Given the description of an element on the screen output the (x, y) to click on. 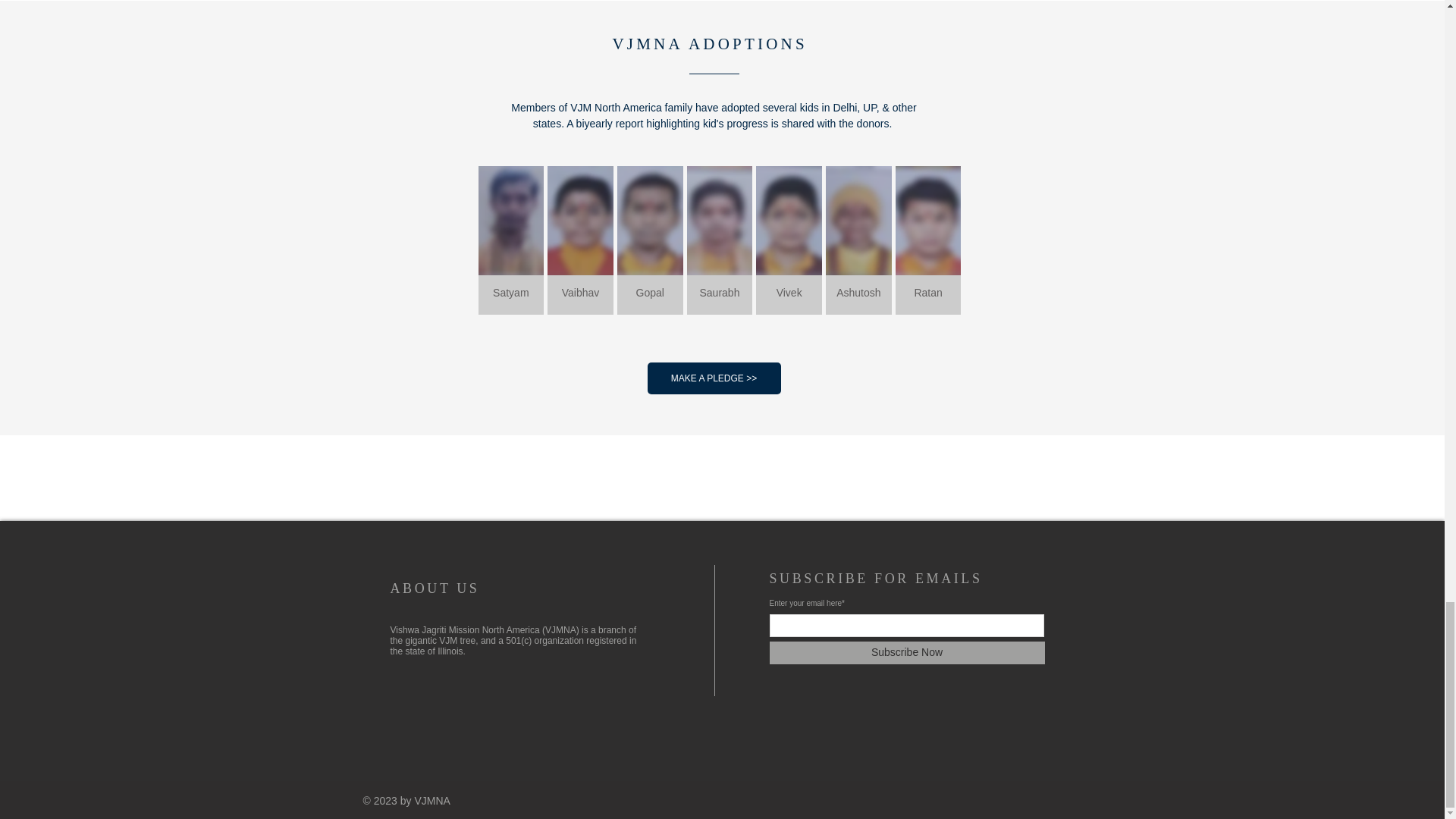
Subscribe Now (905, 652)
